Given the description of an element on the screen output the (x, y) to click on. 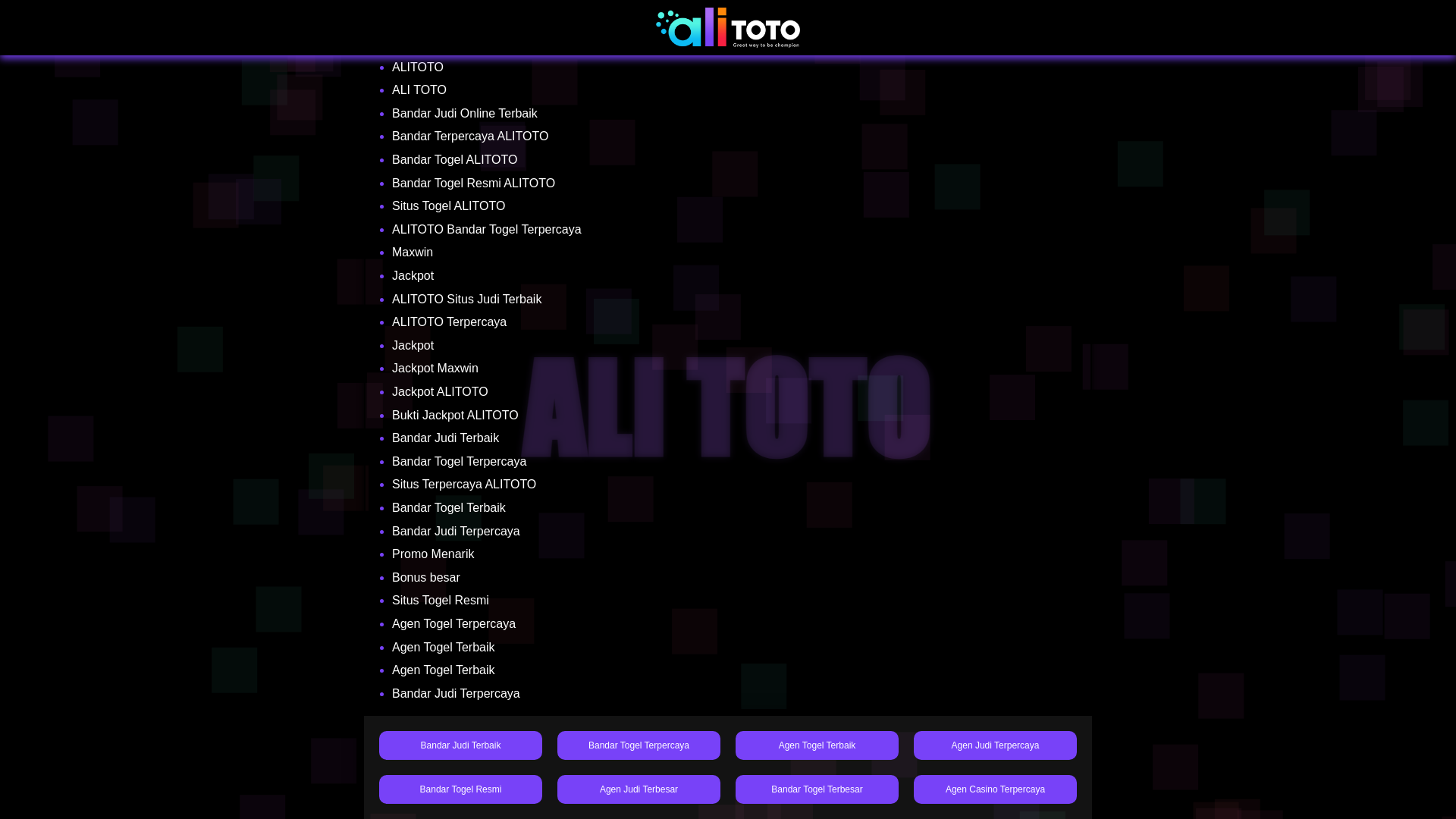
Agen Judi Terbesar (638, 788)
Bandar Togel Resmi (459, 788)
Agen Togel Terbaik (816, 745)
Bandar Togel Terpercaya (638, 745)
Agen Casino Terpercaya (995, 788)
Bandar Judi Terbaik (459, 745)
Bandar Togel Terbesar (816, 788)
Agen Judi Terpercaya (995, 745)
